Given the description of an element on the screen output the (x, y) to click on. 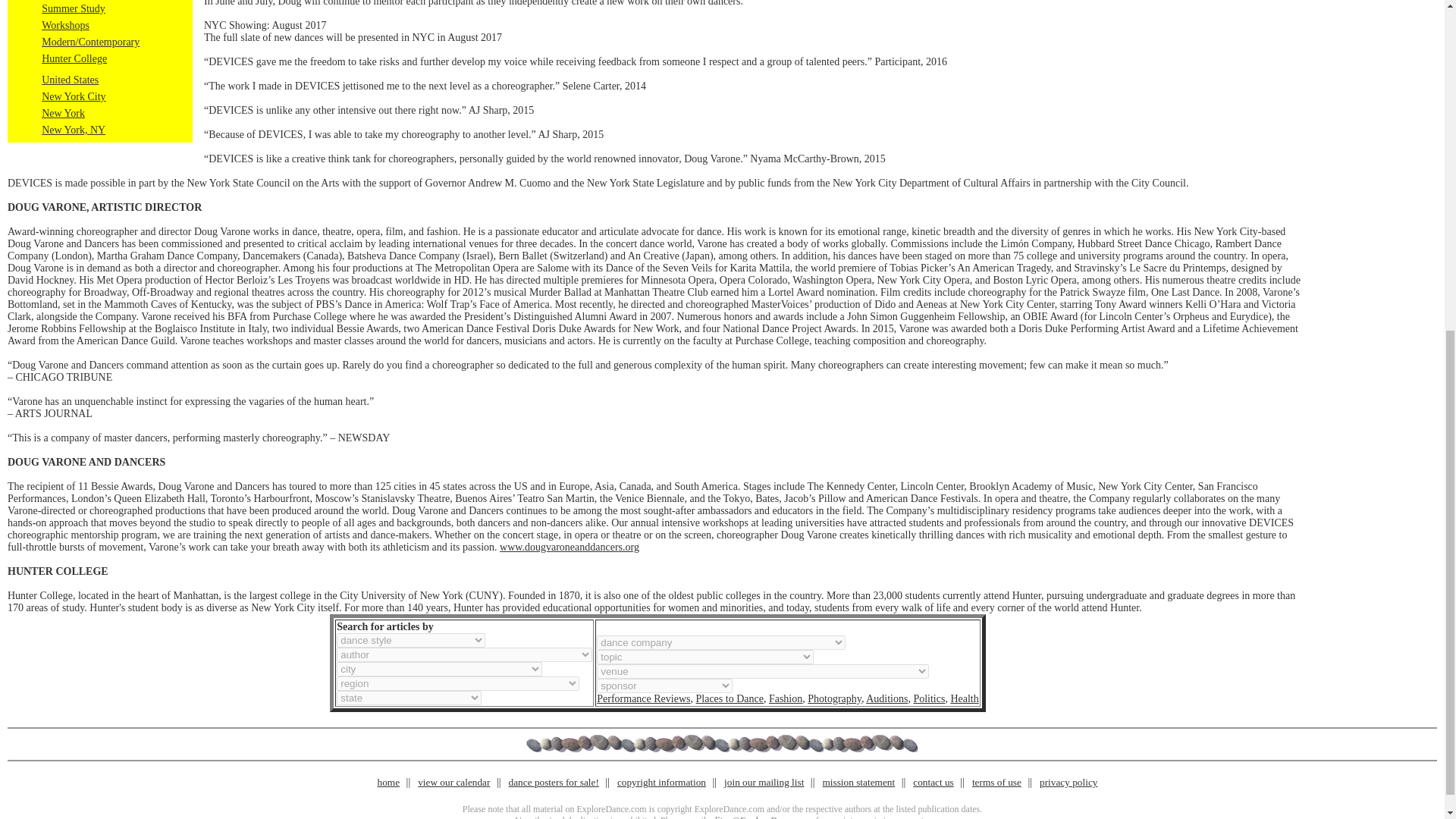
United States (70, 79)
New York (63, 112)
Summer Study (73, 8)
Hunter College (74, 58)
New York City (73, 96)
Workshops (65, 25)
New York, NY (73, 129)
